Given the description of an element on the screen output the (x, y) to click on. 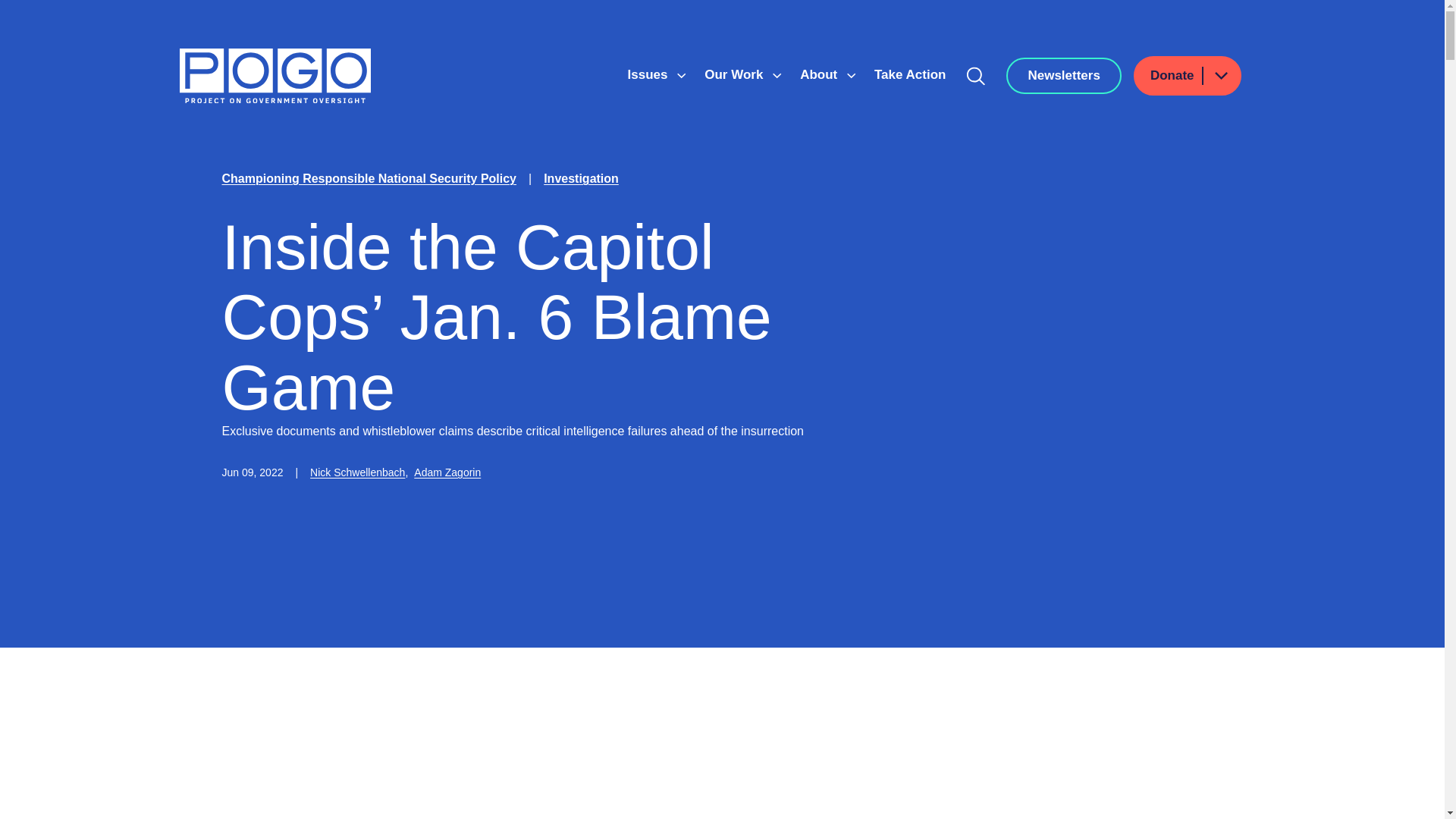
Show submenu for Donate (1220, 75)
Search (976, 75)
Take Action (909, 74)
Show submenu for Our Work (777, 75)
Issues (649, 74)
About (820, 74)
Home (274, 75)
Our Work (735, 74)
Show submenu for About (851, 75)
Donate (1187, 75)
Newsletters (1063, 75)
Show submenu for Issues (681, 75)
